Given the description of an element on the screen output the (x, y) to click on. 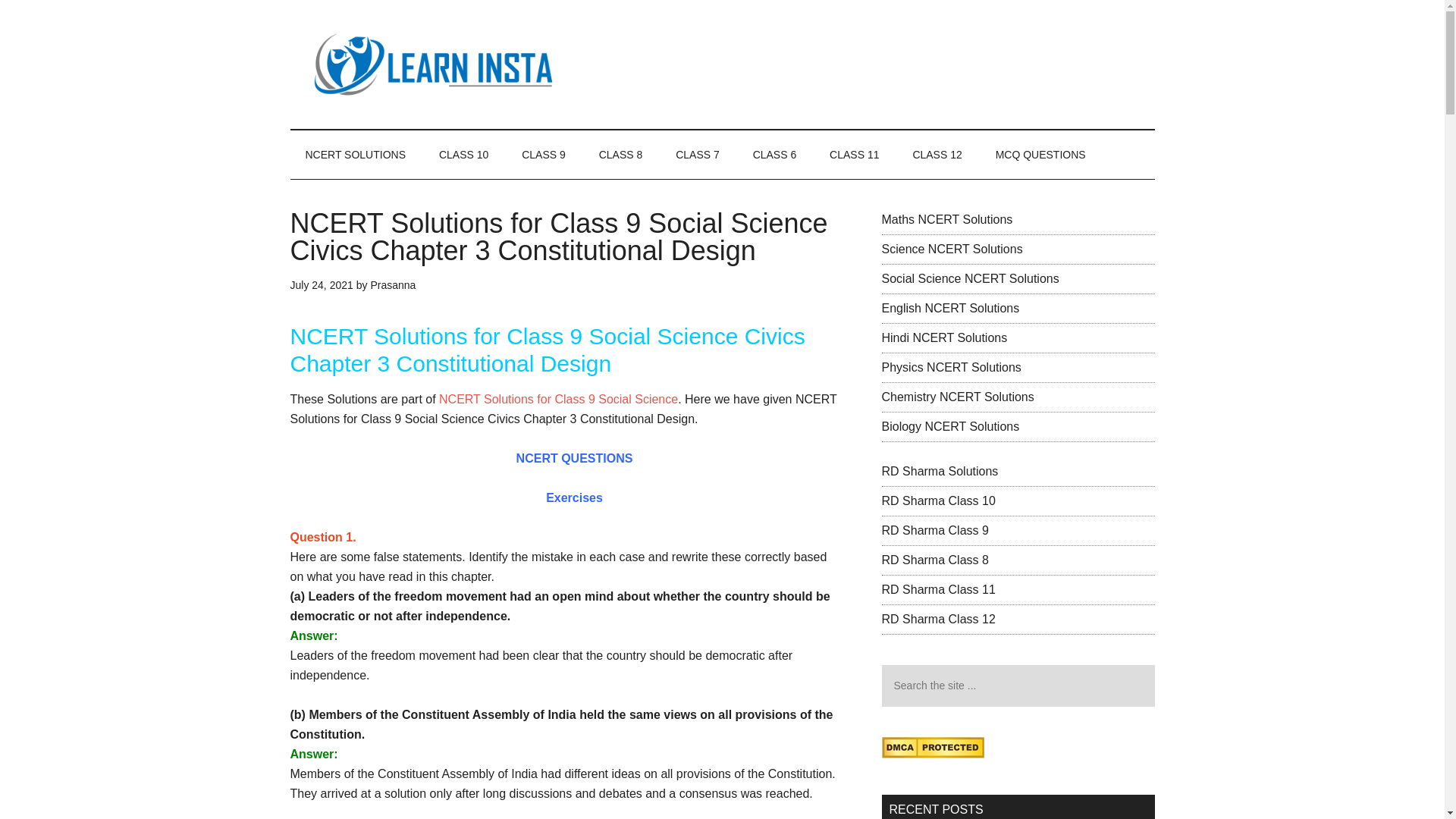
MCQ QUESTIONS (1039, 154)
CLASS 12 (936, 154)
Prasanna (391, 285)
Hindi NCERT Solutions (943, 337)
RD Sharma Class 11 (937, 589)
Social Science NCERT Solutions (969, 278)
Science NCERT Solutions (951, 248)
